Given the description of an element on the screen output the (x, y) to click on. 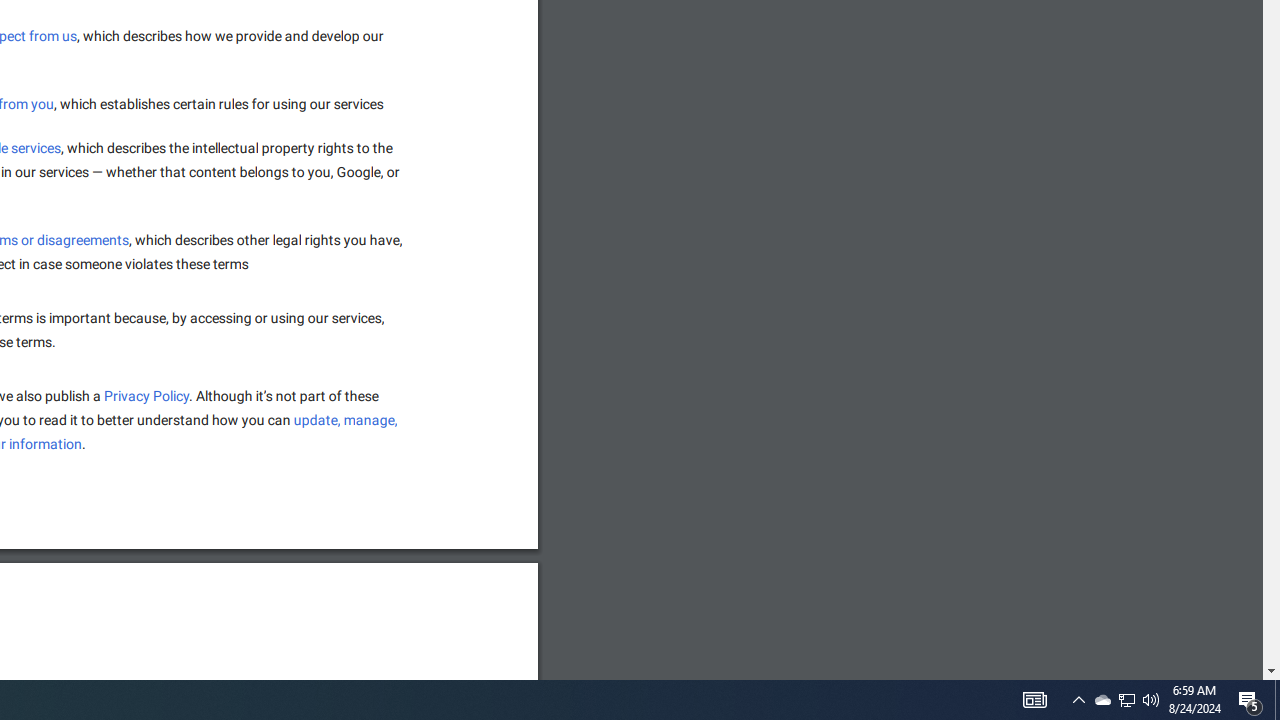
update, manage, (346, 420)
